Given the description of an element on the screen output the (x, y) to click on. 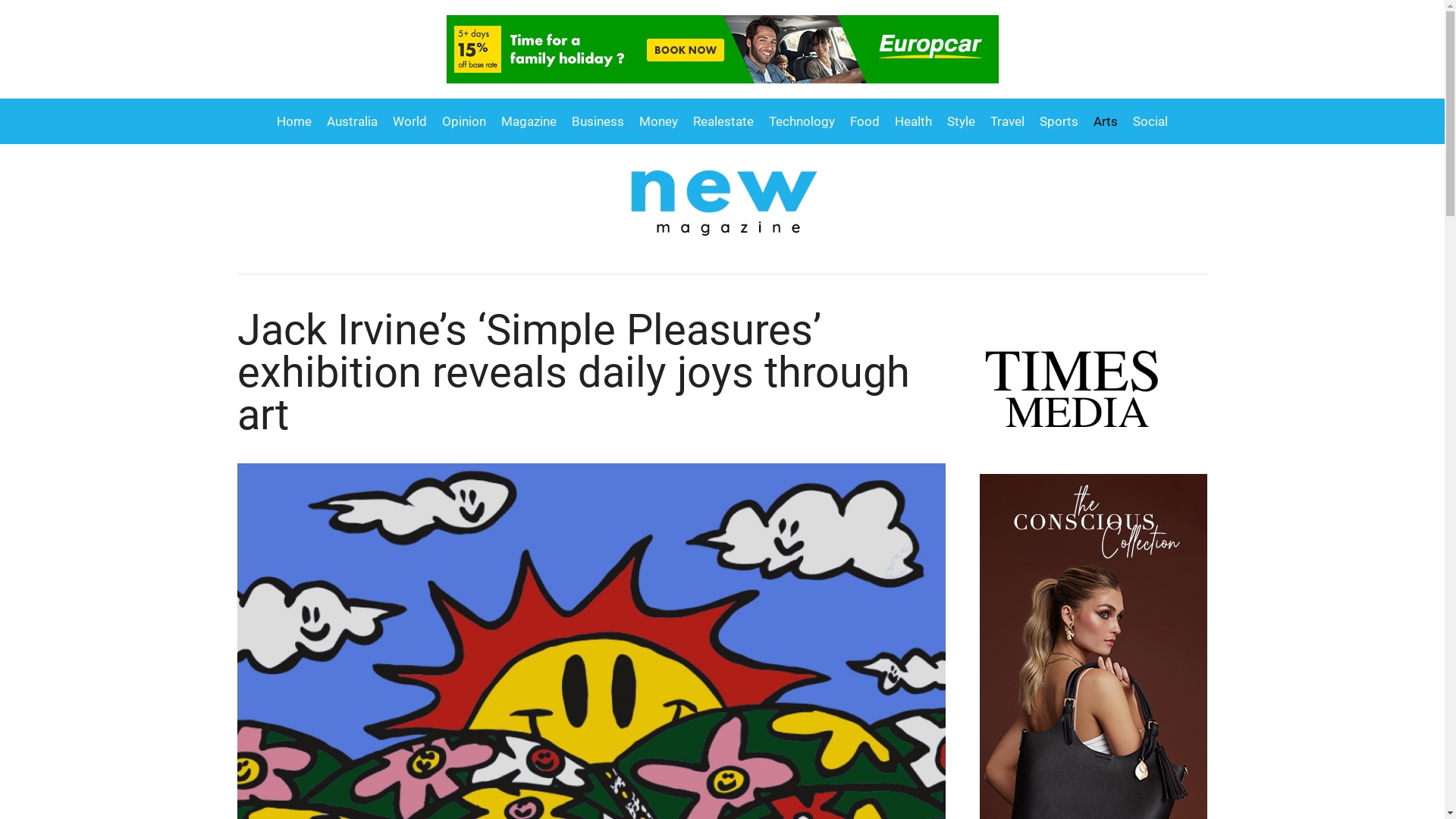
Arts Element type: text (1105, 121)
Money Element type: text (658, 121)
Magazine Element type: text (528, 121)
Travel Element type: text (1007, 121)
Social Element type: text (1146, 121)
World Element type: text (409, 121)
Food Element type: text (864, 121)
Technology Element type: text (801, 121)
Business Element type: text (597, 121)
Style Element type: text (960, 121)
Sports Element type: text (1058, 121)
Opinion Element type: text (463, 121)
Australia Element type: text (352, 121)
Realestate Element type: text (723, 121)
Health Element type: text (913, 121)
Home Element type: text (297, 121)
